Given the description of an element on the screen output the (x, y) to click on. 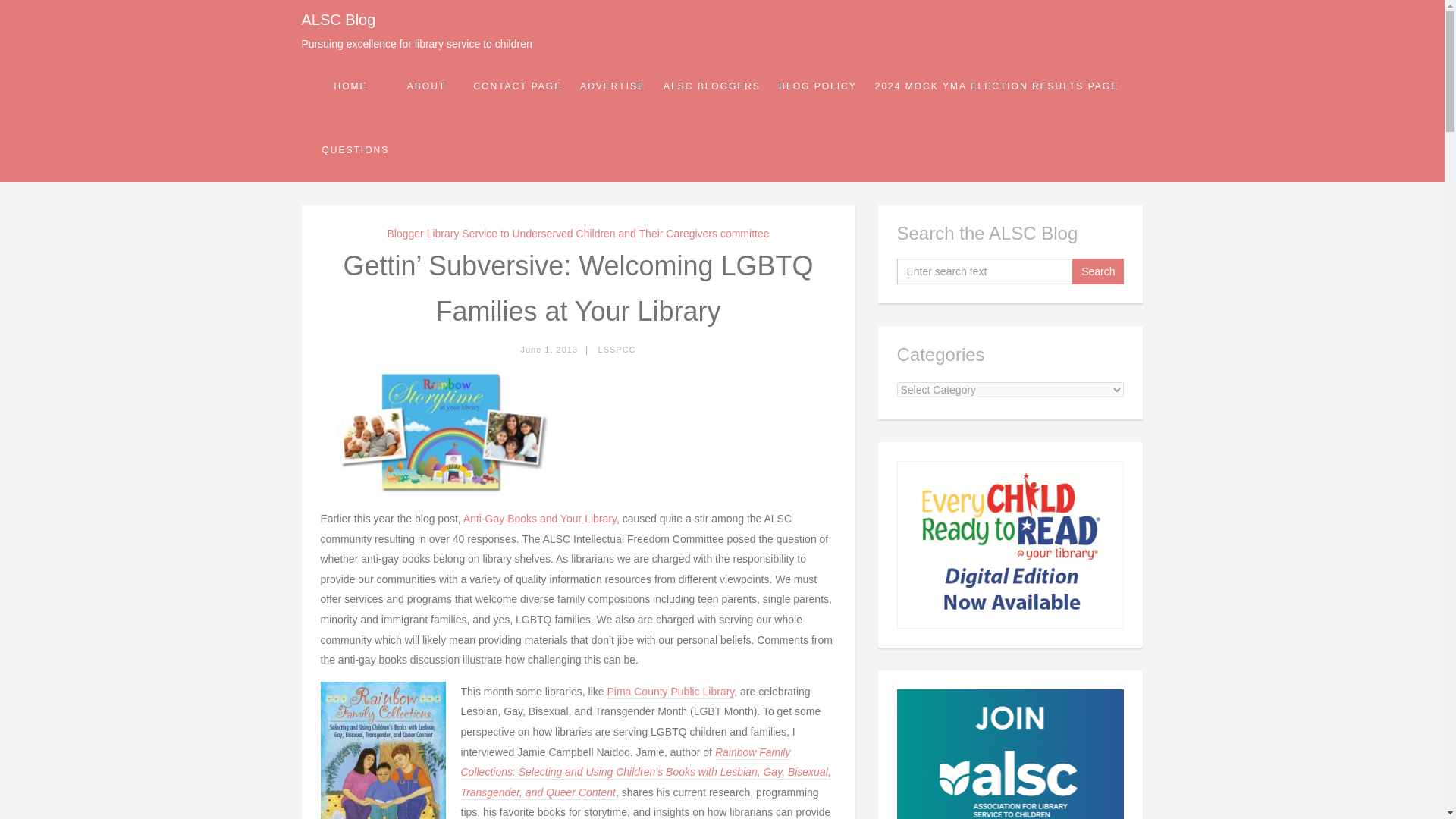
ADVERTISE (611, 85)
2024 MOCK YMA ELECTION RESULTS PAGE (996, 85)
Anti-Gay Books (539, 519)
Rainbow Family Collection (646, 773)
Pima County Public Library (670, 692)
LSSPCC (617, 348)
CONTACT PAGE (517, 85)
Anti-Gay Books and Your Library (539, 519)
ABOUT (426, 85)
Questions (355, 149)
